Given the description of an element on the screen output the (x, y) to click on. 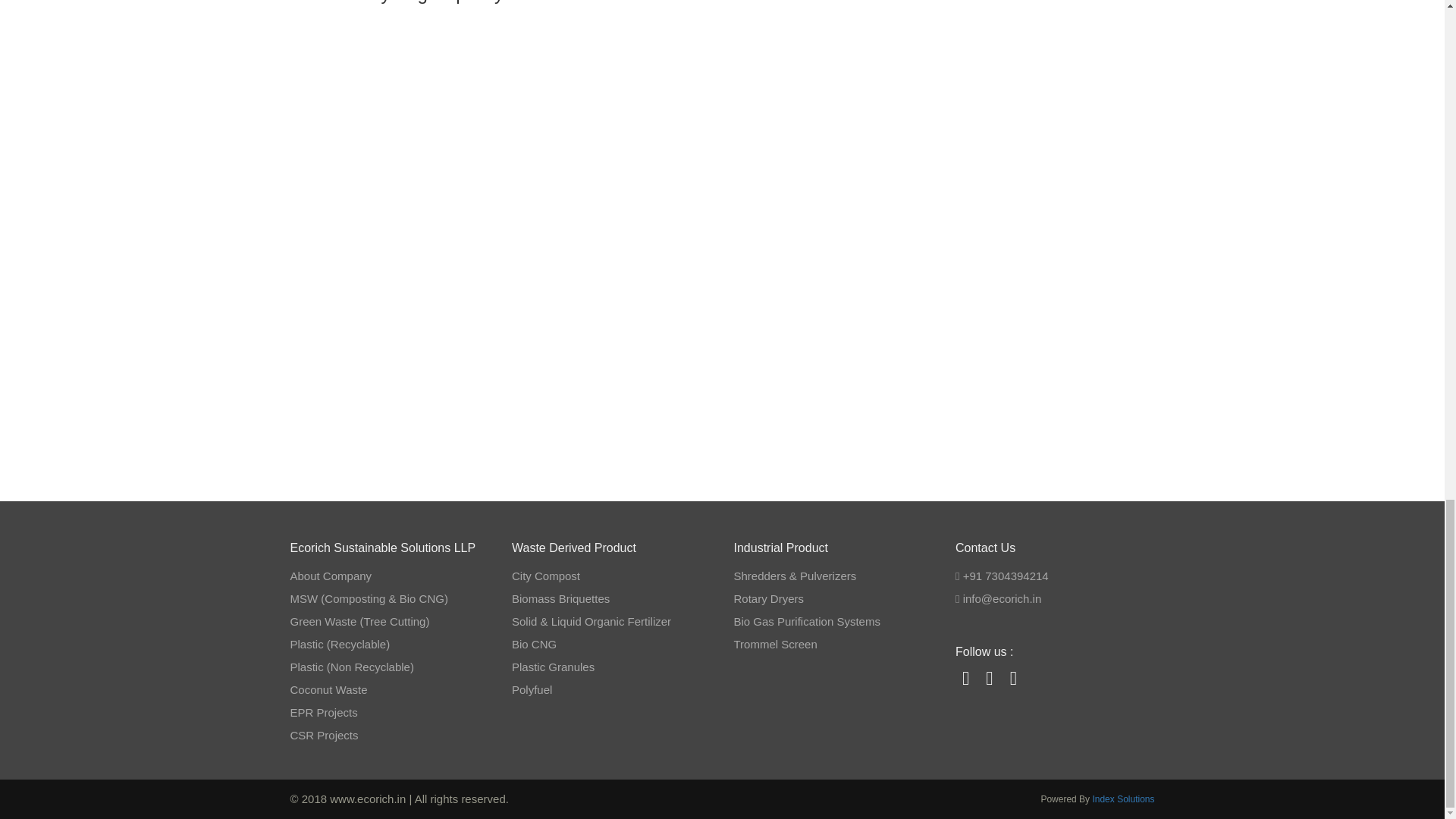
EPR Projects (322, 712)
Coconut Waste (327, 689)
About Company (330, 575)
